Given the description of an element on the screen output the (x, y) to click on. 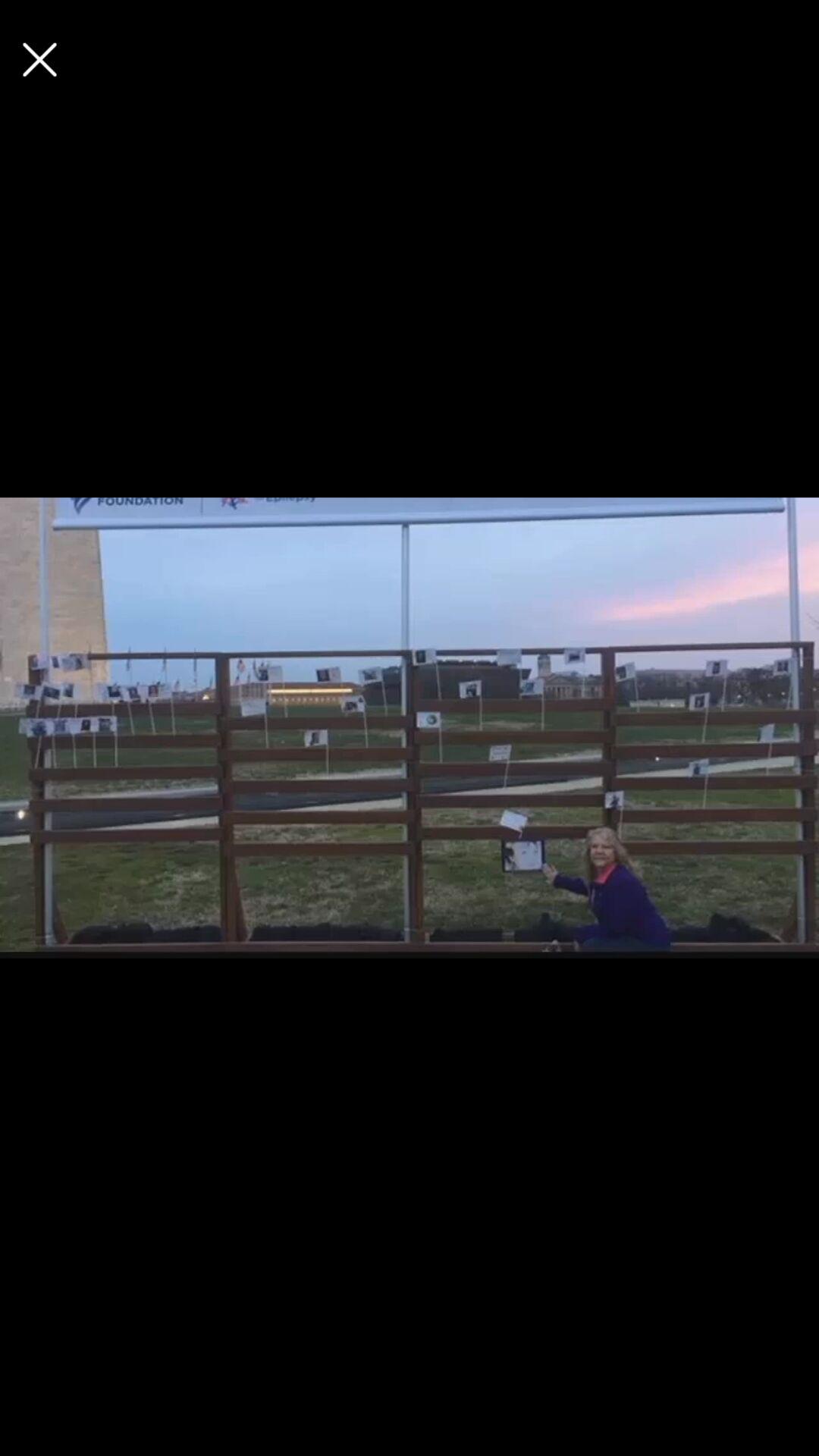
close this page (39, 59)
